Given the description of an element on the screen output the (x, y) to click on. 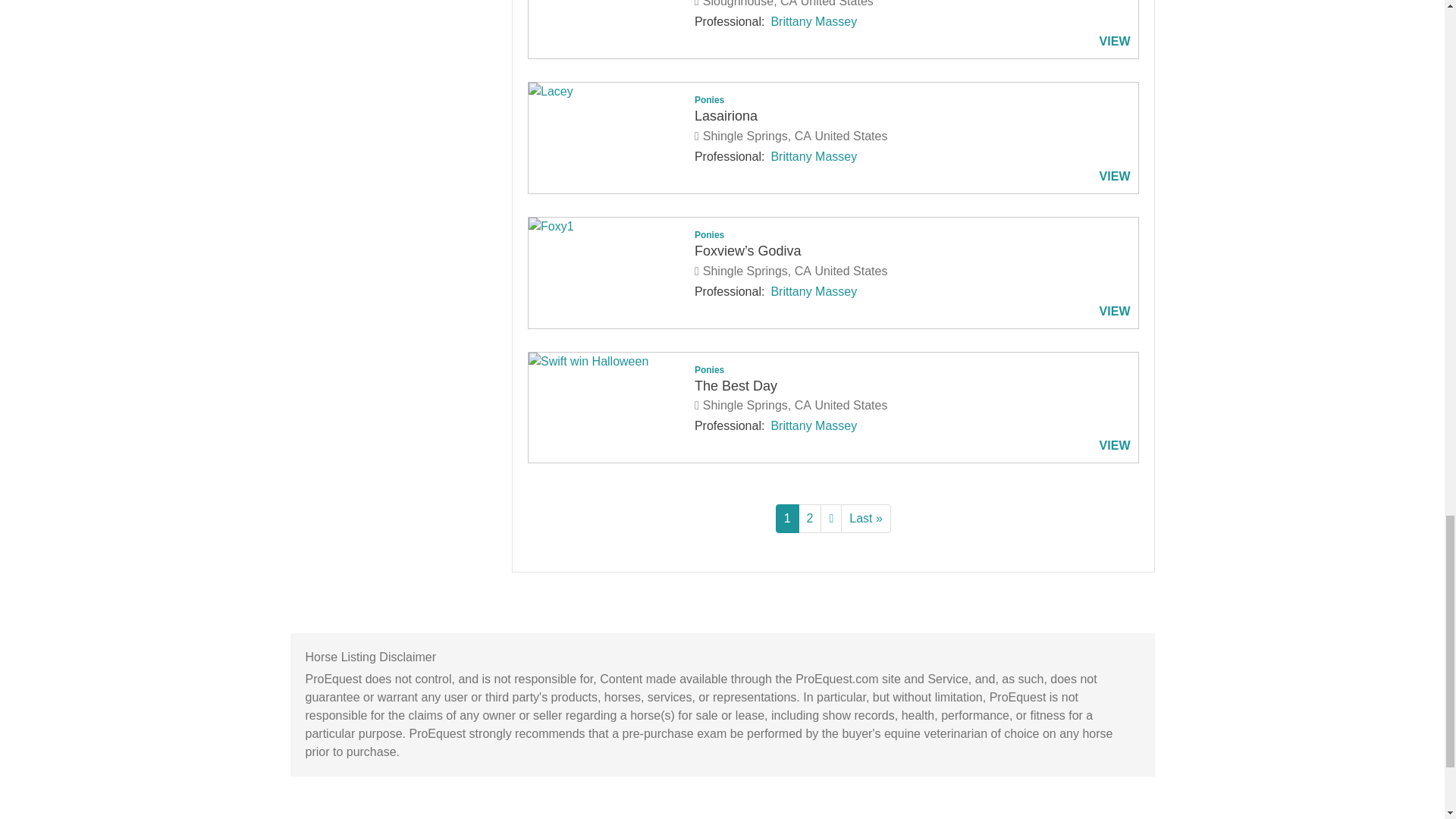
Lacey (607, 91)
Foxy1 (607, 226)
Go to last page (866, 518)
Swift win Halloween  (607, 361)
